Given the description of an element on the screen output the (x, y) to click on. 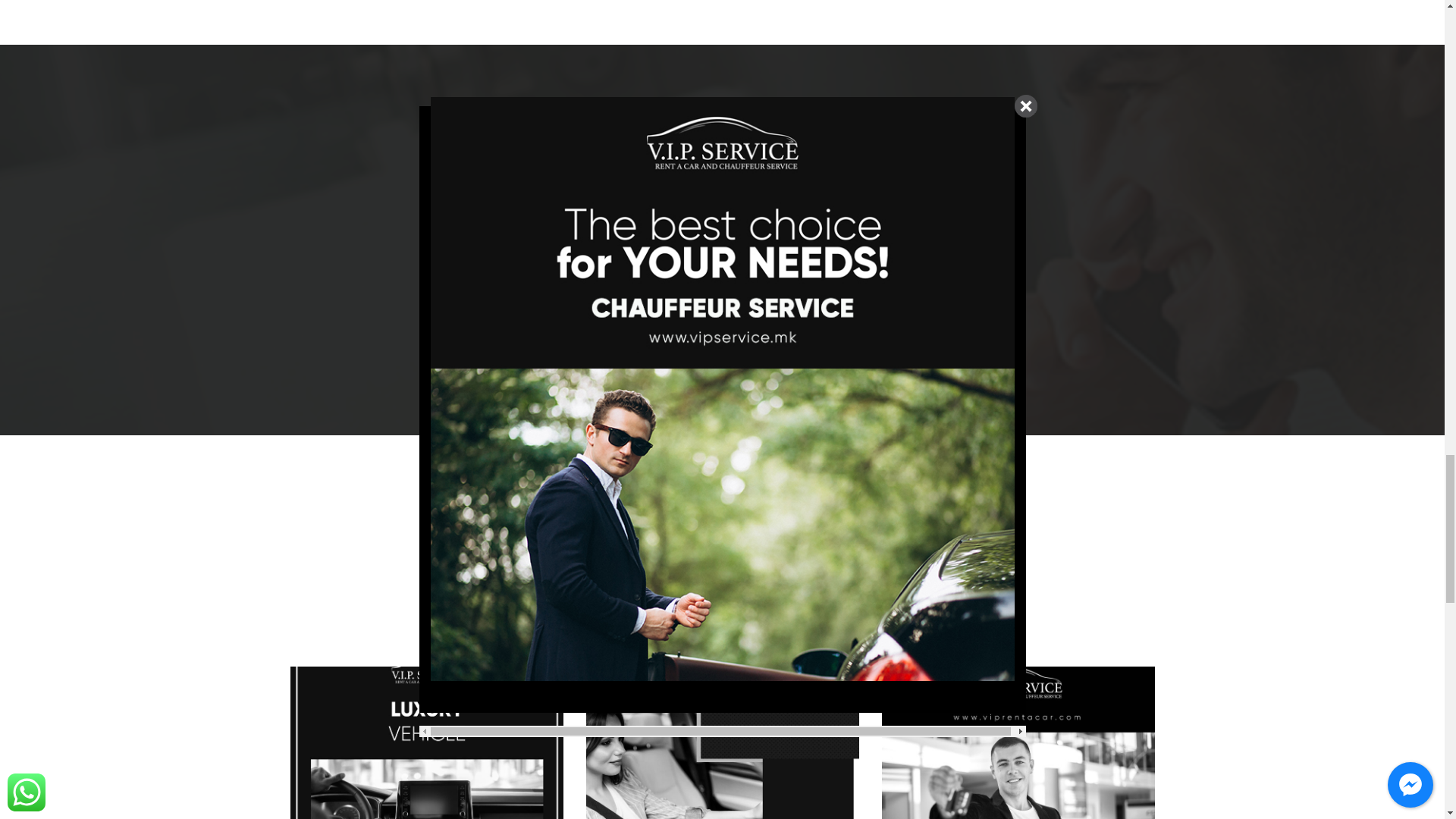
Send now (721, 351)
Send now (721, 351)
